Given the description of an element on the screen output the (x, y) to click on. 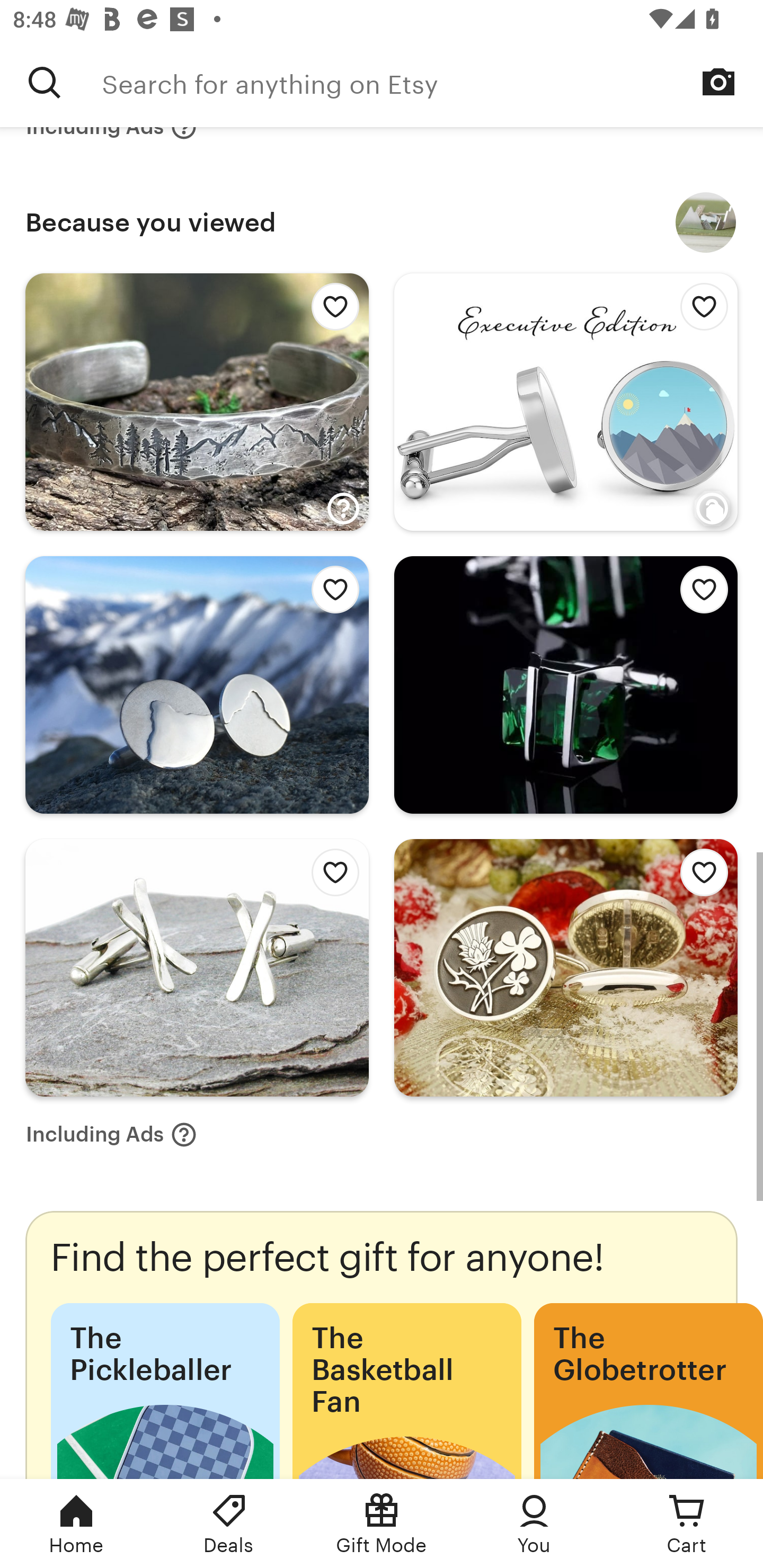
Search for anything on Etsy (44, 82)
Search by image (718, 81)
Search for anything on Etsy (432, 82)
Including Ads (111, 1134)
Find the perfect gift for anyone! (381, 1344)
The Pickleballer (165, 1390)
The Basketball Fan (406, 1390)
The Globetrotter (648, 1390)
Deals (228, 1523)
Gift Mode (381, 1523)
You (533, 1523)
Cart (686, 1523)
